Given the description of an element on the screen output the (x, y) to click on. 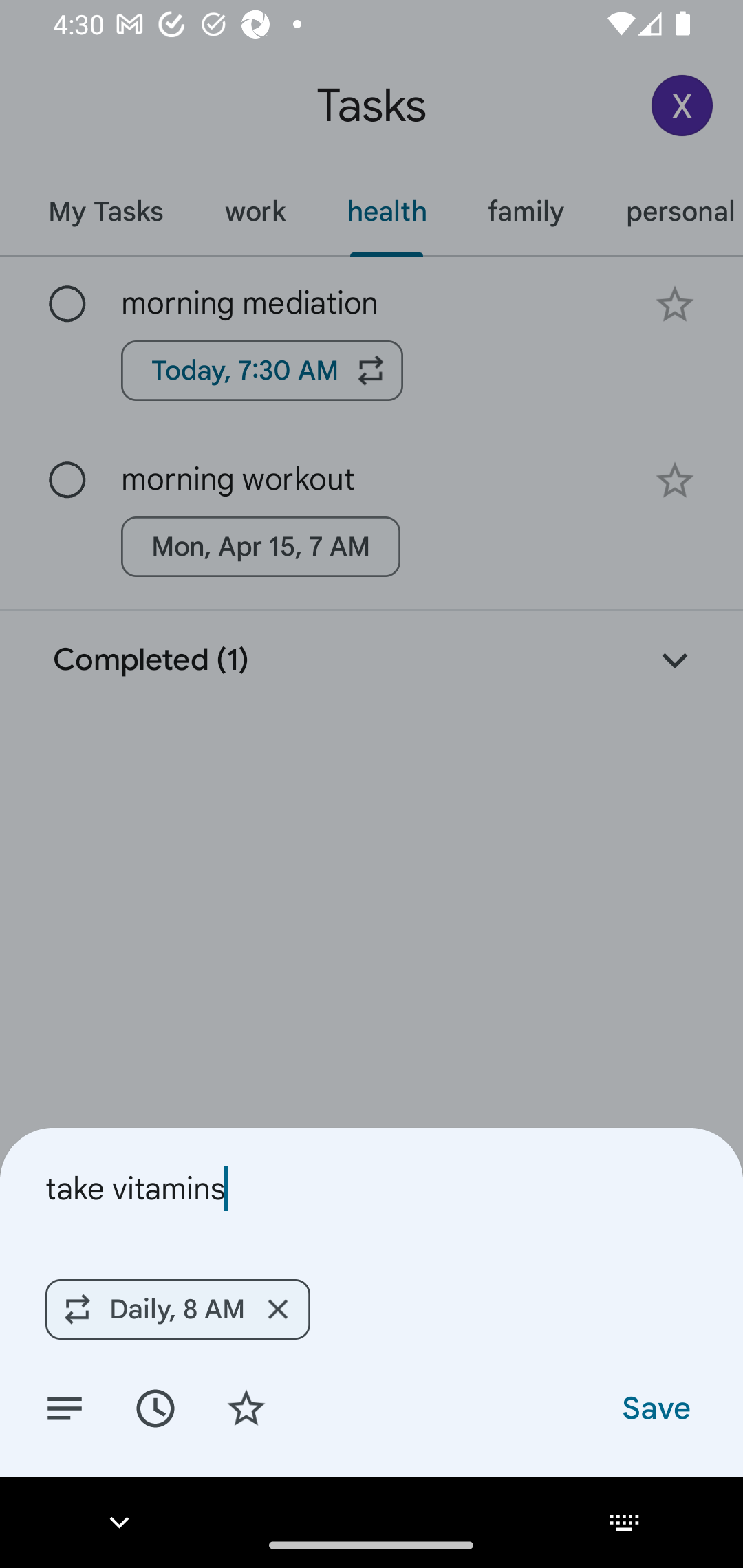
take vitamins (371, 1188)
Daily, 8 AM Remove Daily, 8 AM (177, 1308)
Save (655, 1407)
Add details (64, 1407)
Set date/time (154, 1407)
Add star (245, 1407)
